Given the description of an element on the screen output the (x, y) to click on. 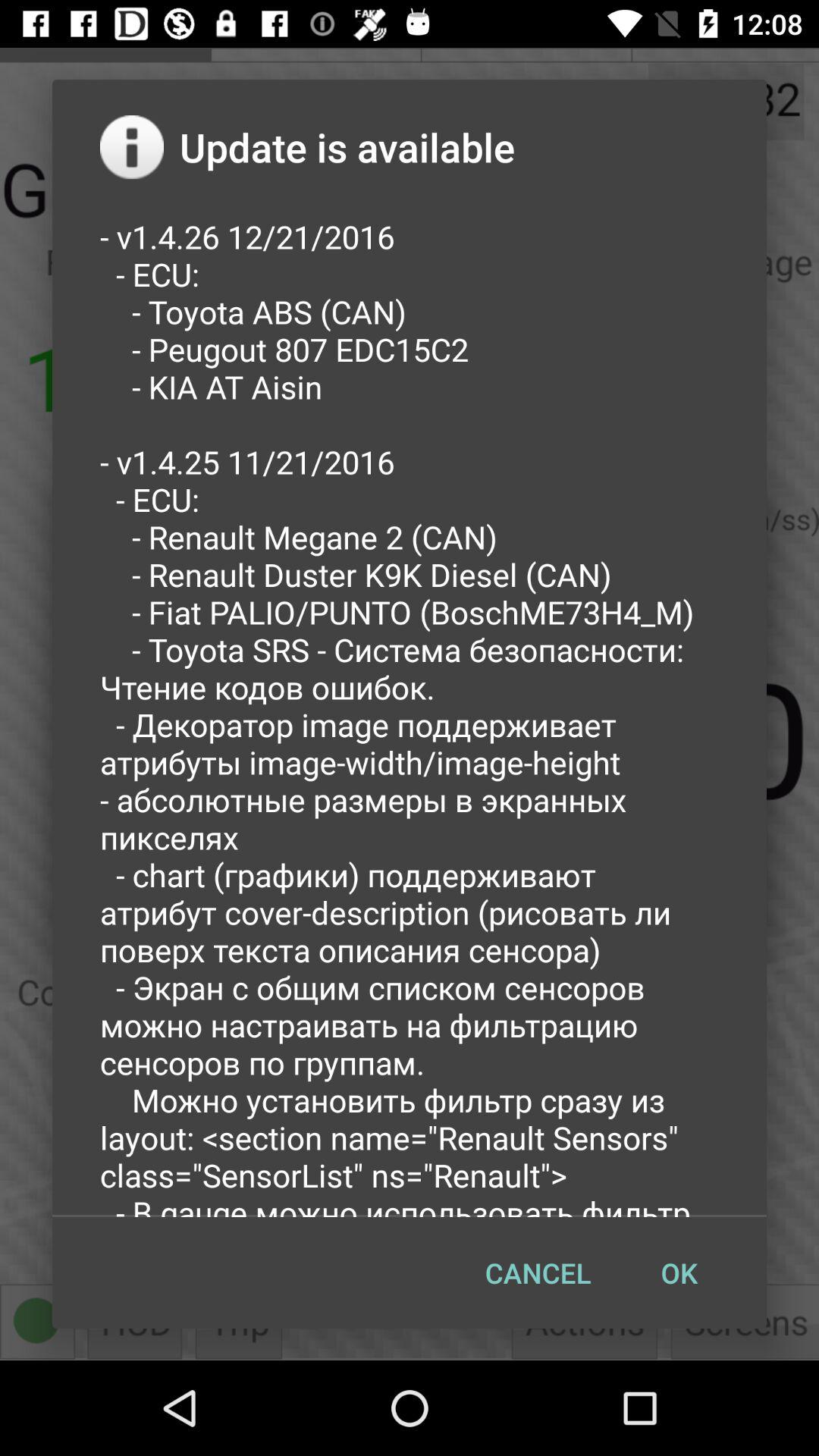
launch ok button (678, 1272)
